Given the description of an element on the screen output the (x, y) to click on. 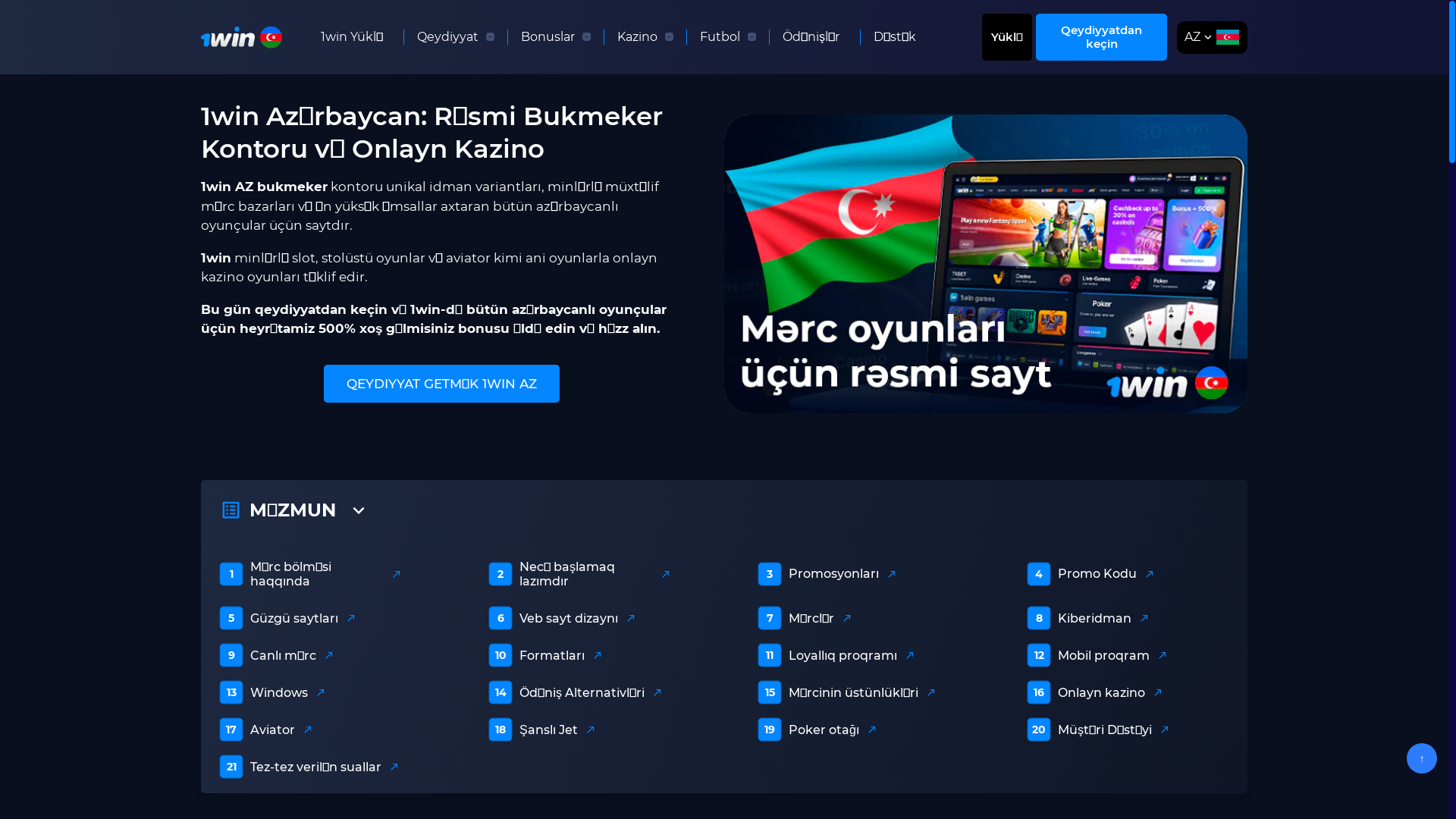
Mobil proqram Element type: text (1106, 655)
Kazino Element type: text (637, 36)
Qeydiyyat Element type: text (447, 36)
Promo Kodu Element type: text (1100, 573)
Aviator Element type: text (275, 729)
Onlayn kazino Element type: text (1104, 691)
Windows Element type: text (282, 691)
Bonuslar Element type: text (547, 36)
Kiberidman Element type: text (1097, 617)
Futbol Element type: text (719, 36)
